Given the description of an element on the screen output the (x, y) to click on. 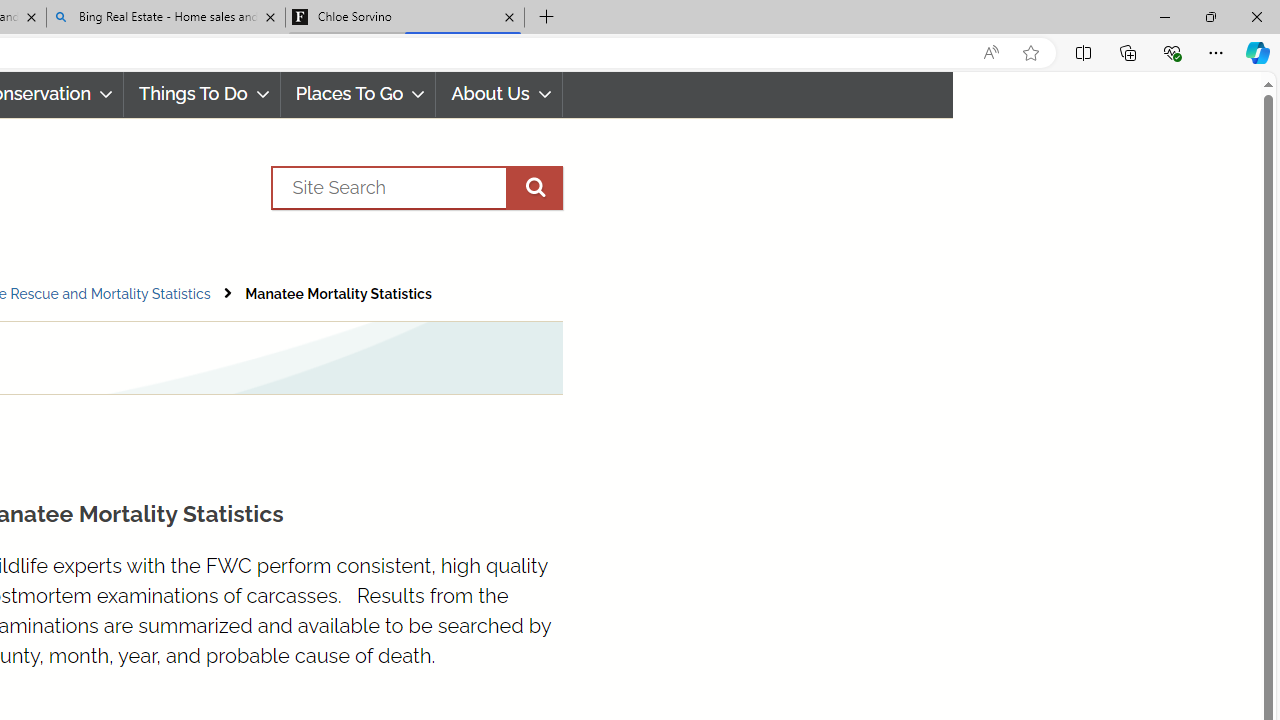
Bing Real Estate - Home sales and rental listings (166, 17)
About Us (499, 94)
Places To Go (358, 94)
